Given the description of an element on the screen output the (x, y) to click on. 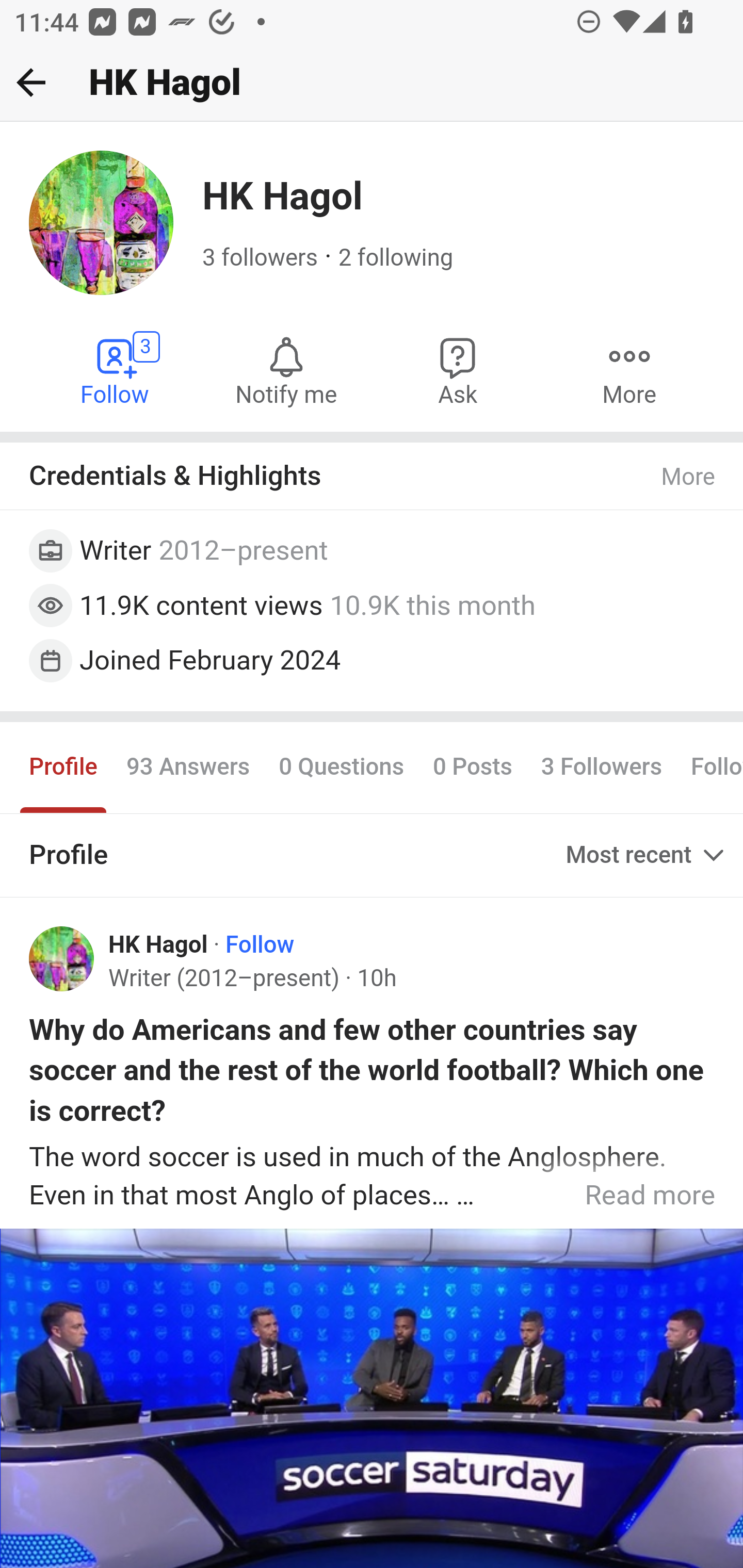
Back HK Hagol (371, 82)
Back (30, 82)
3 followers (260, 257)
2 following (395, 257)
Follow HK Hagol 3 Follow (115, 370)
Notify me (285, 370)
Ask (458, 370)
More (628, 370)
More (688, 477)
Profile (63, 766)
93 Answers (187, 766)
0 Questions (341, 766)
0 Posts (471, 766)
3 Followers (600, 766)
Most recent (647, 854)
Profile photo for HK Hagol (61, 959)
HK Hagol (158, 944)
Follow (259, 944)
10h 10 h (376, 979)
